Given the description of an element on the screen output the (x, y) to click on. 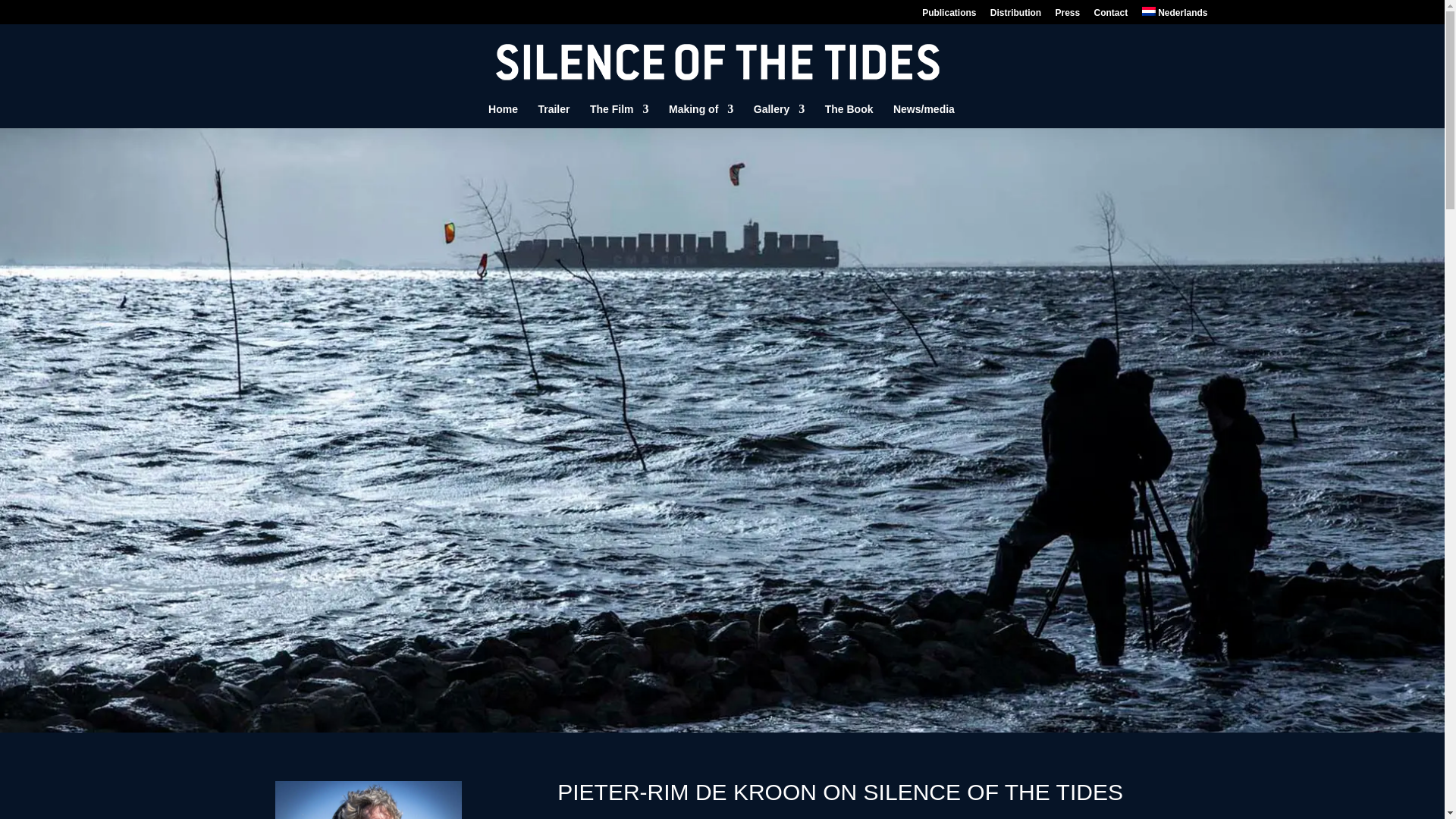
Publications (948, 16)
Trailer (553, 115)
Making of (700, 115)
The Book (849, 115)
Home (502, 115)
Contact (1111, 16)
Nederlands (1174, 15)
Press (1067, 16)
Gallery (779, 115)
Nederlands (1174, 15)
The Film (619, 115)
Distribution (1015, 16)
